Given the description of an element on the screen output the (x, y) to click on. 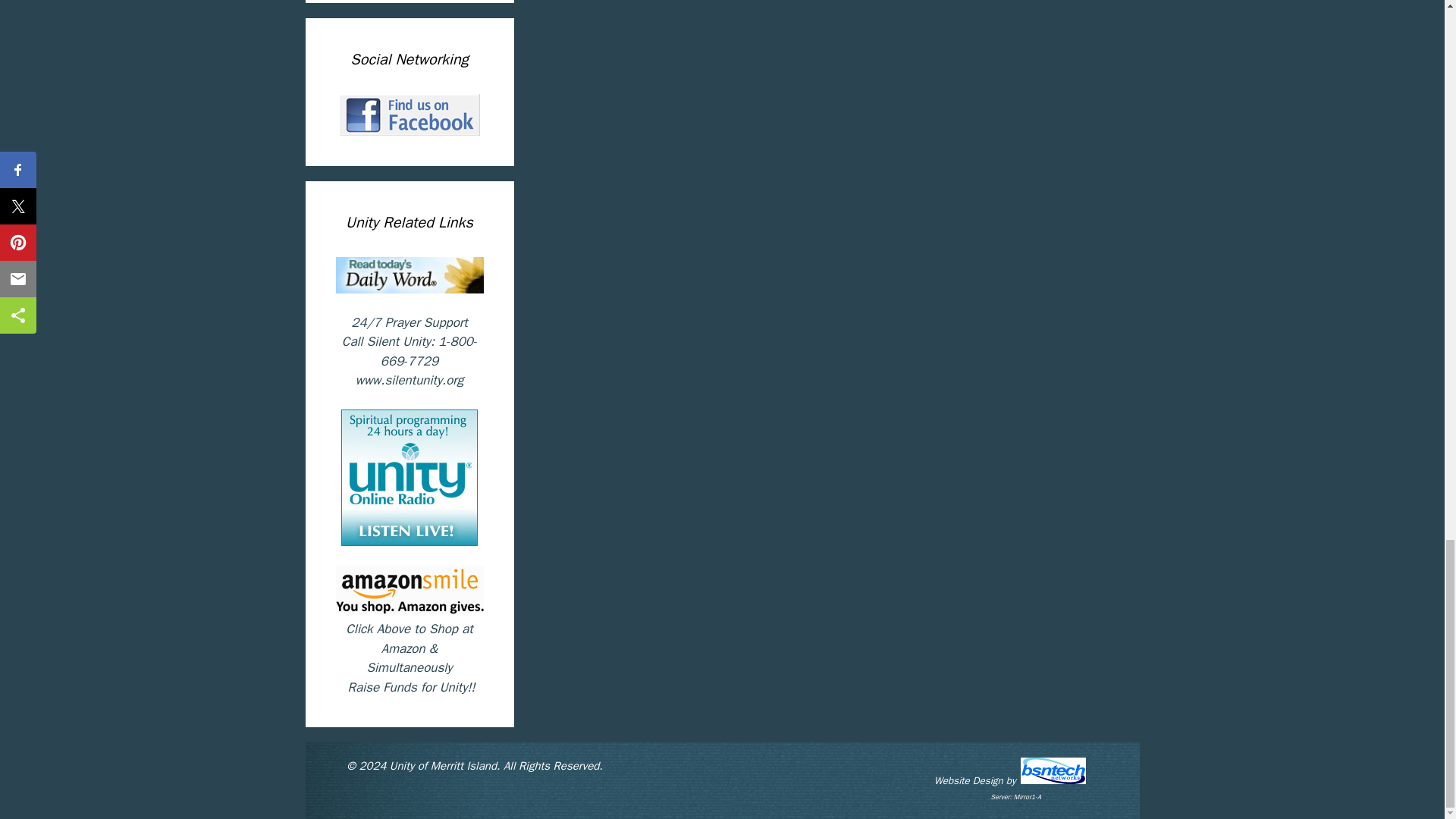
BsnTech Networks (1058, 770)
www.silentunity.org (409, 380)
Website Design (968, 780)
